Given the description of an element on the screen output the (x, y) to click on. 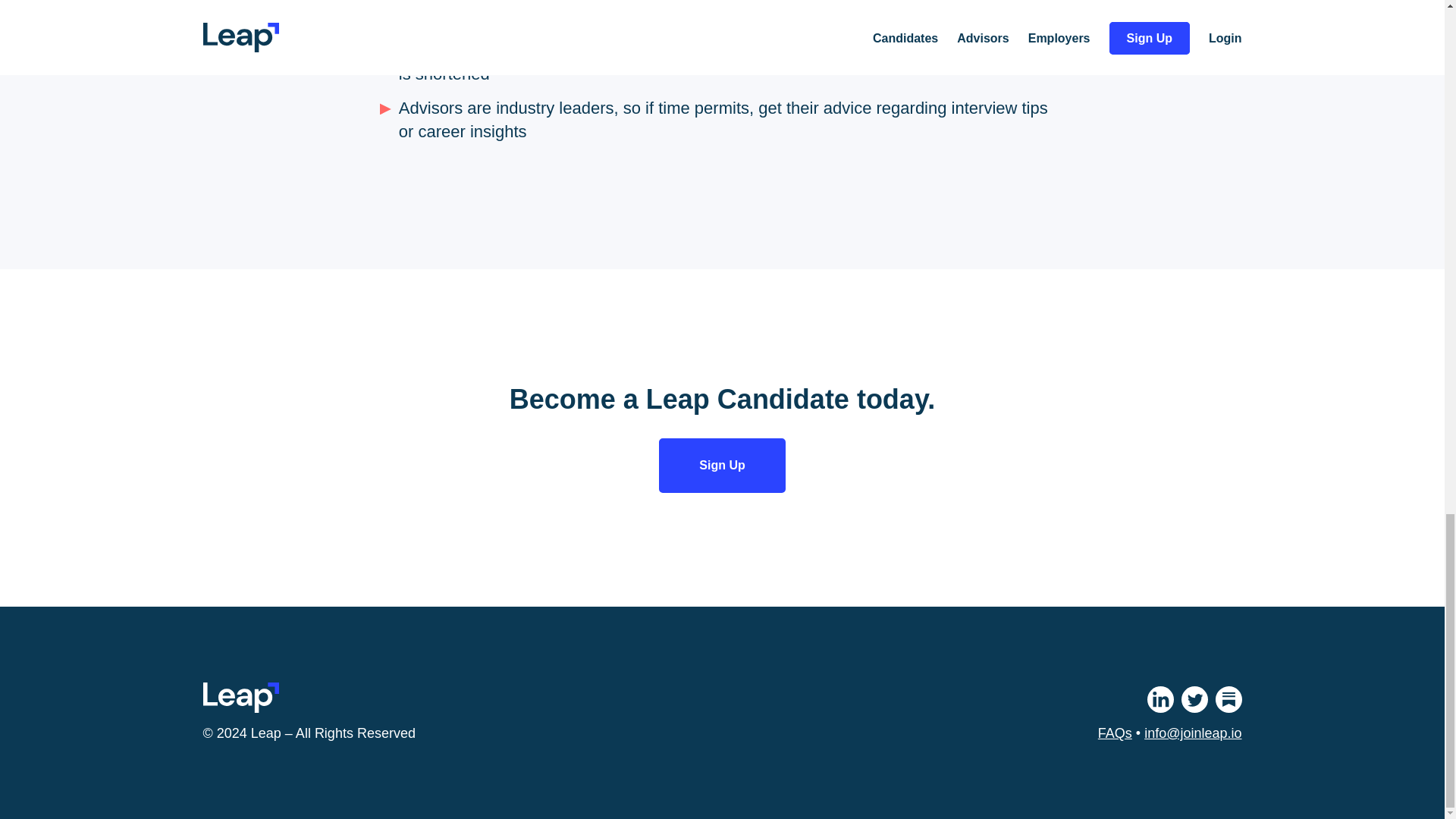
Sign Up (721, 465)
FAQs (1114, 733)
